Given the description of an element on the screen output the (x, y) to click on. 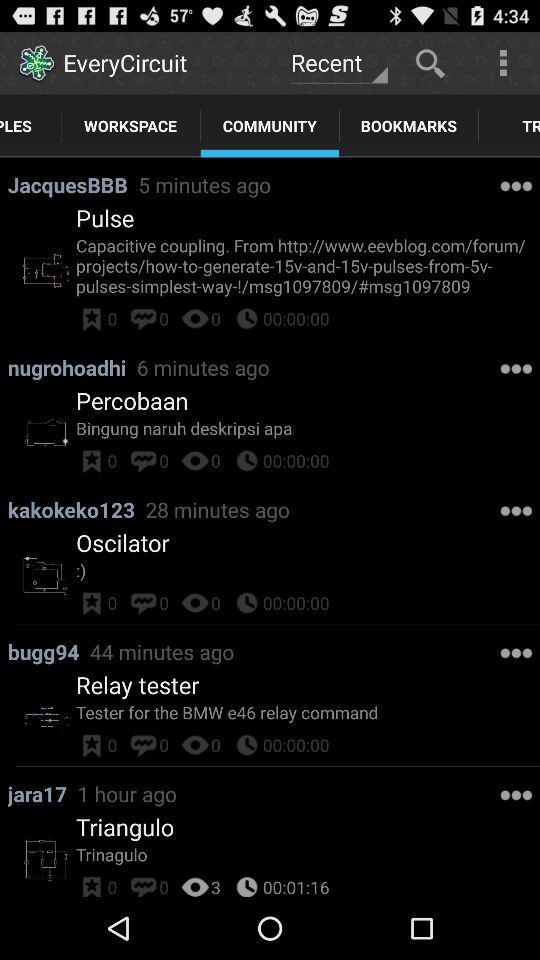
choose icon to the left of 1 hour ago icon (42, 793)
